Given the description of an element on the screen output the (x, y) to click on. 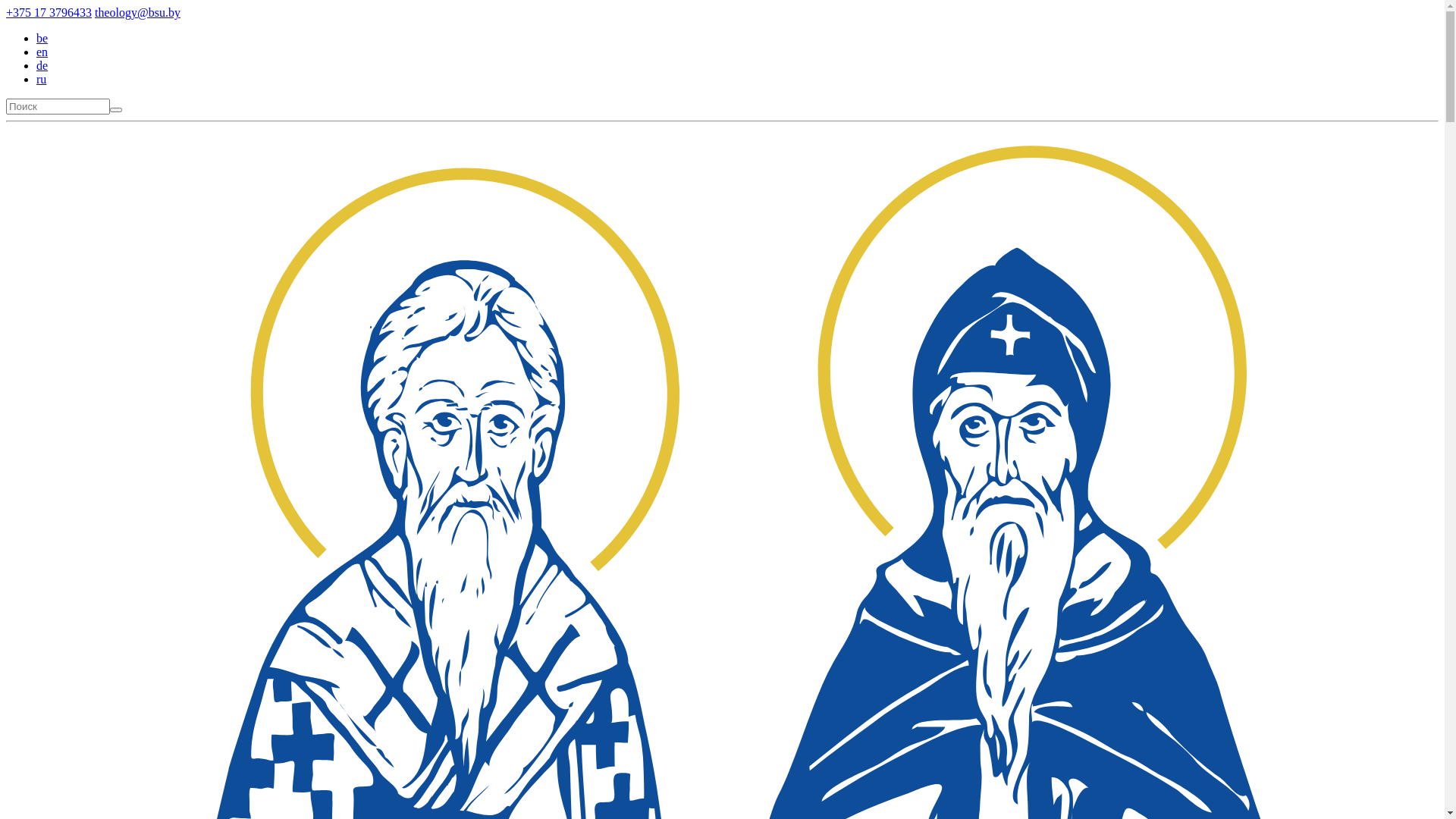
theology@bsu.by Element type: text (137, 12)
de Element type: text (41, 65)
ru Element type: text (41, 78)
+375 17 3796433 Element type: text (48, 12)
be Element type: text (41, 37)
en Element type: text (41, 51)
